Given the description of an element on the screen output the (x, y) to click on. 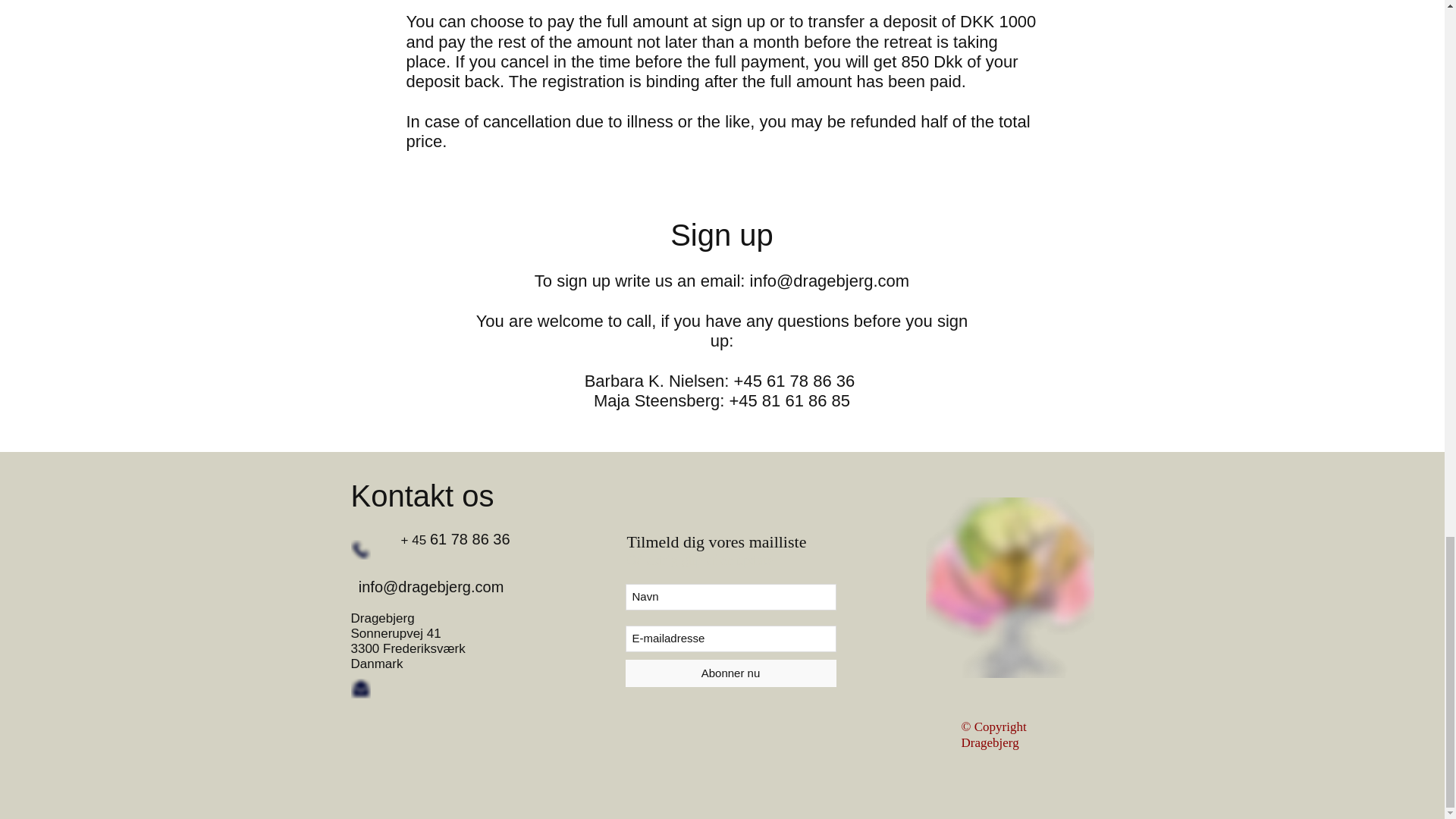
Abonner nu (729, 673)
